Given the description of an element on the screen output the (x, y) to click on. 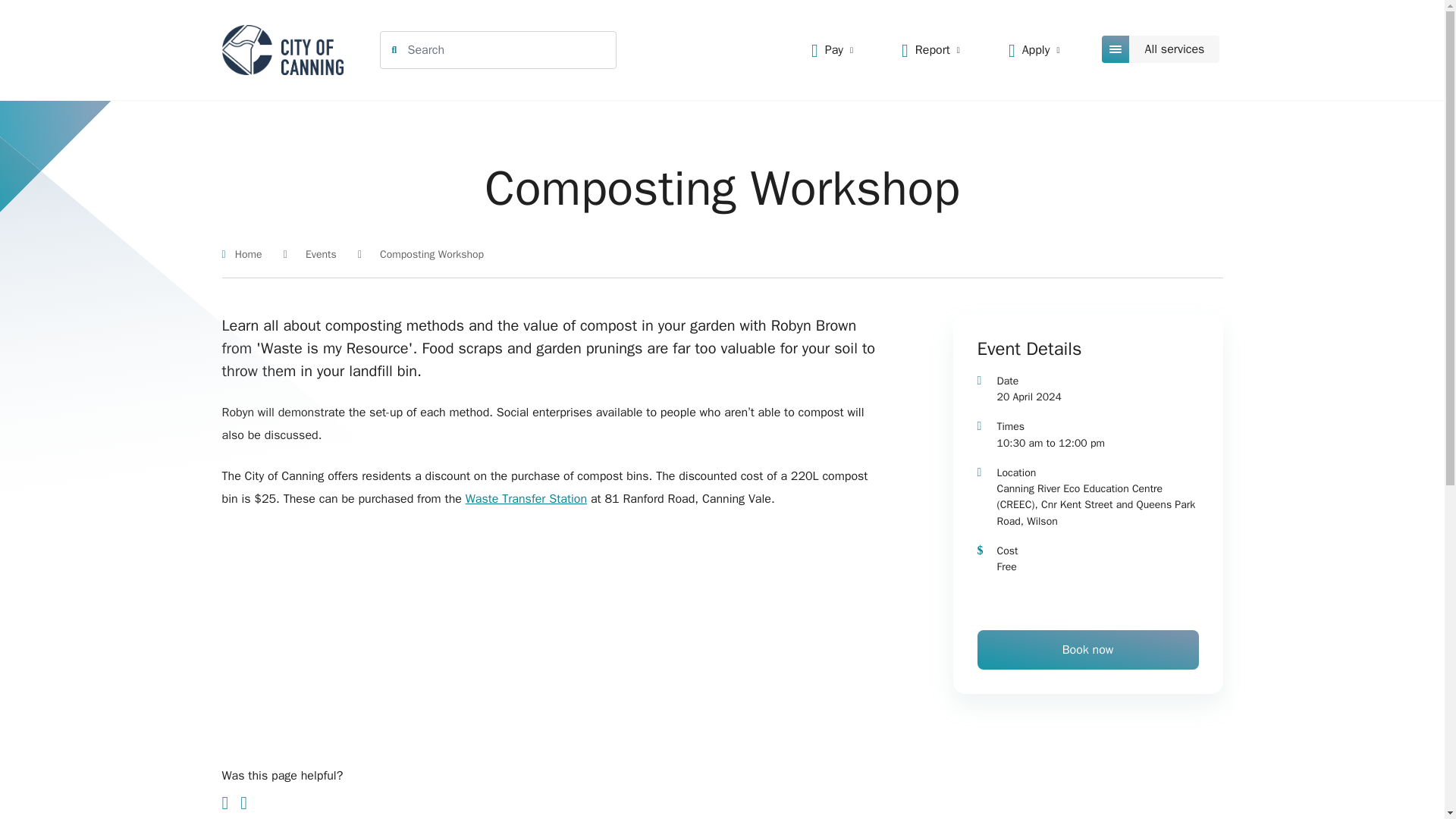
All services (1162, 49)
